Given the description of an element on the screen output the (x, y) to click on. 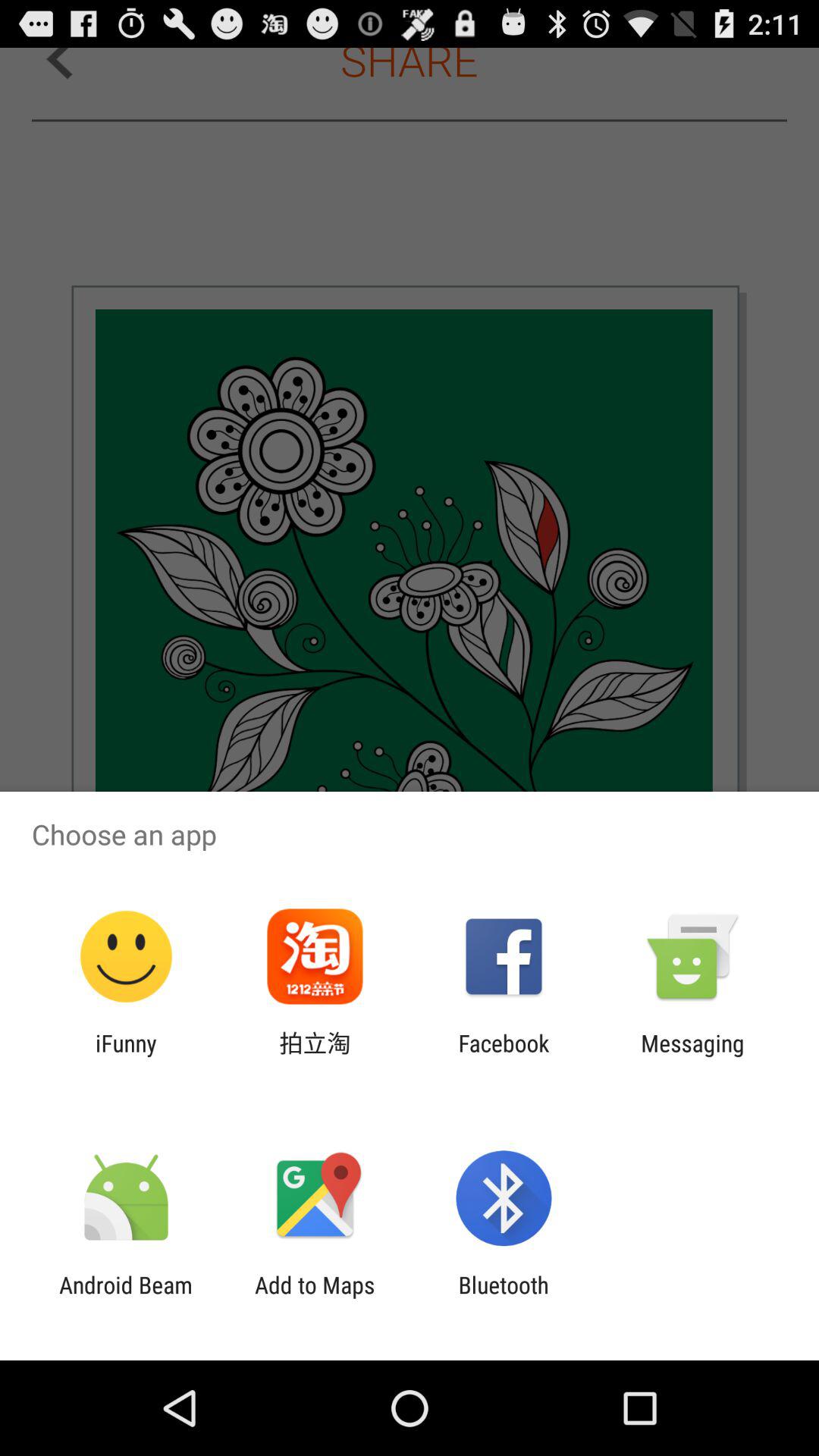
press the android beam app (125, 1298)
